Given the description of an element on the screen output the (x, y) to click on. 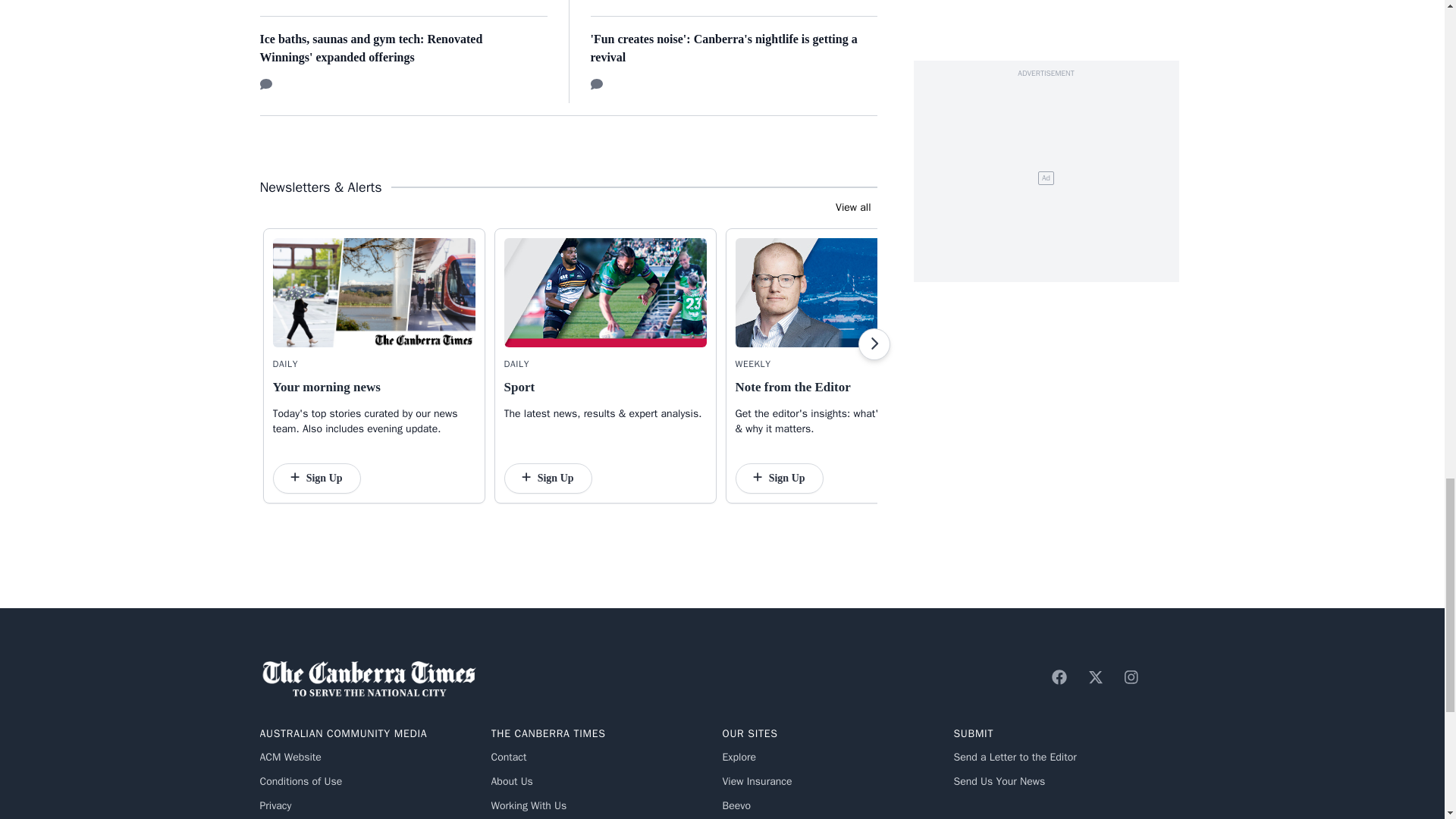
Sport Newsletter (604, 292)
Note from the Editor Newsletter (836, 292)
Your morning news Newsletter (374, 292)
